Given the description of an element on the screen output the (x, y) to click on. 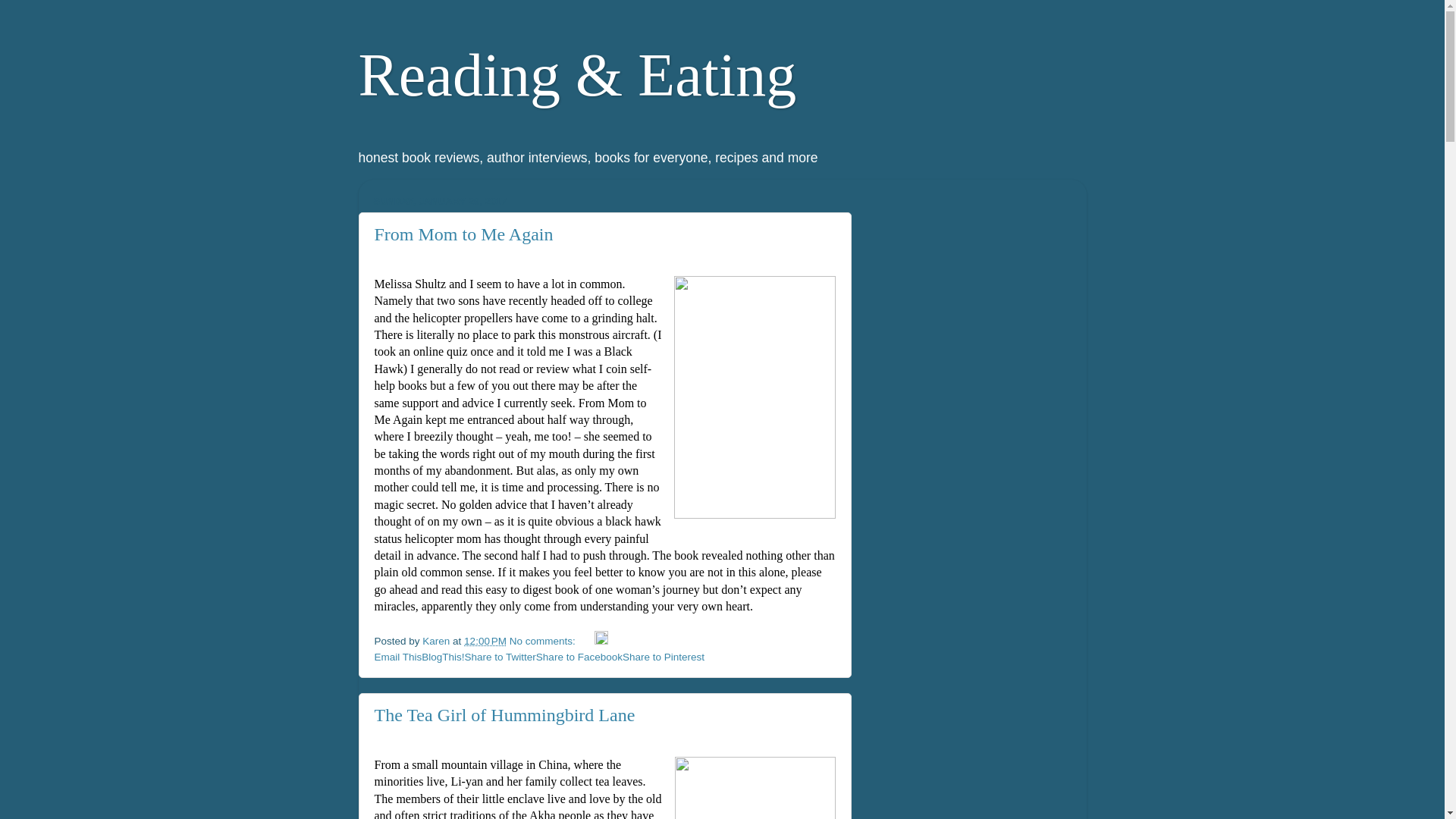
Share to Facebook (579, 656)
The Tea Girl of Hummingbird Lane (504, 714)
permanent link (485, 641)
BlogThis! (443, 656)
Email This (398, 656)
Email Post (586, 641)
Edit Post (601, 641)
Karen (437, 641)
Share to Facebook (579, 656)
Share to Pinterest (663, 656)
BlogThis! (443, 656)
author profile (437, 641)
From Mom to Me Again (463, 234)
Share to Twitter (499, 656)
